Given the description of an element on the screen output the (x, y) to click on. 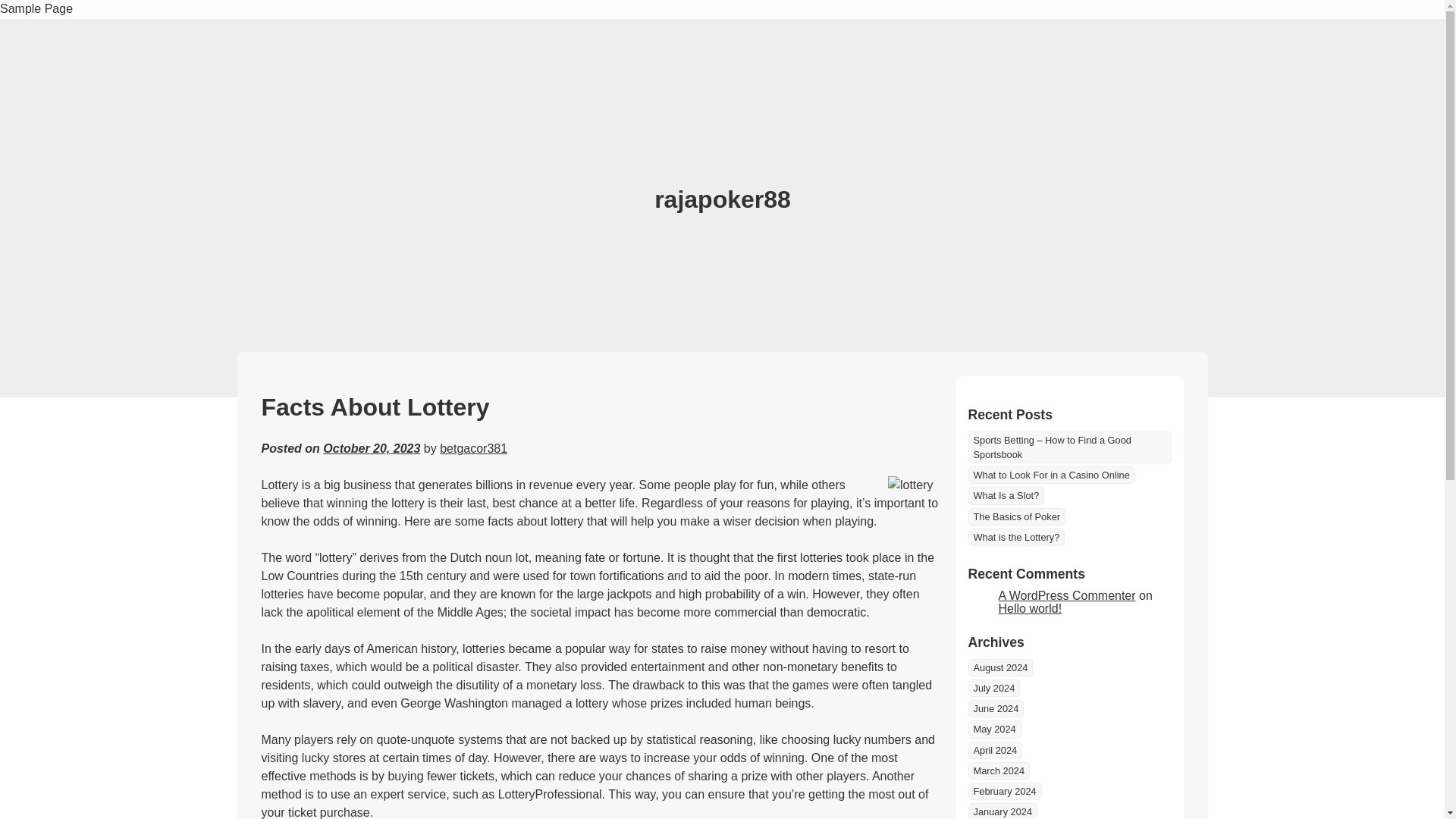
betgacor381 (472, 448)
June 2024 (995, 708)
What to Look For in a Casino Online (1051, 475)
October 20, 2023 (371, 448)
The Basics of Poker (1016, 516)
Sample Page (36, 9)
A WordPress Commenter (1066, 594)
July 2024 (994, 687)
What is the Lottery? (1016, 537)
April 2024 (995, 750)
